Given the description of an element on the screen output the (x, y) to click on. 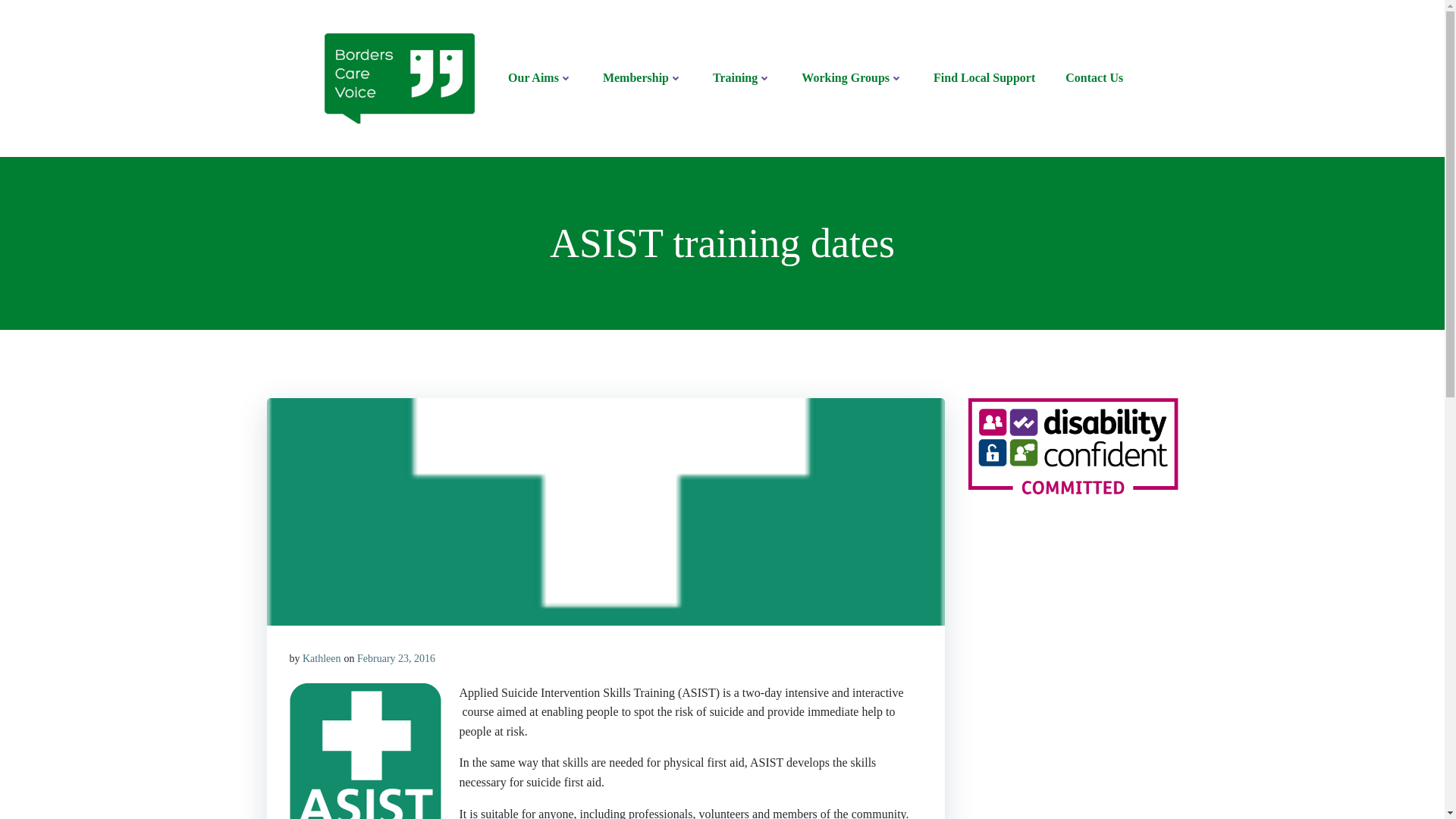
Working Groups (852, 77)
Our Aims (540, 77)
Contact Us (1093, 77)
February 23, 2016 (395, 658)
Membership (642, 77)
Training (742, 77)
Find Local Support (984, 77)
Kathleen (321, 658)
